Given the description of an element on the screen output the (x, y) to click on. 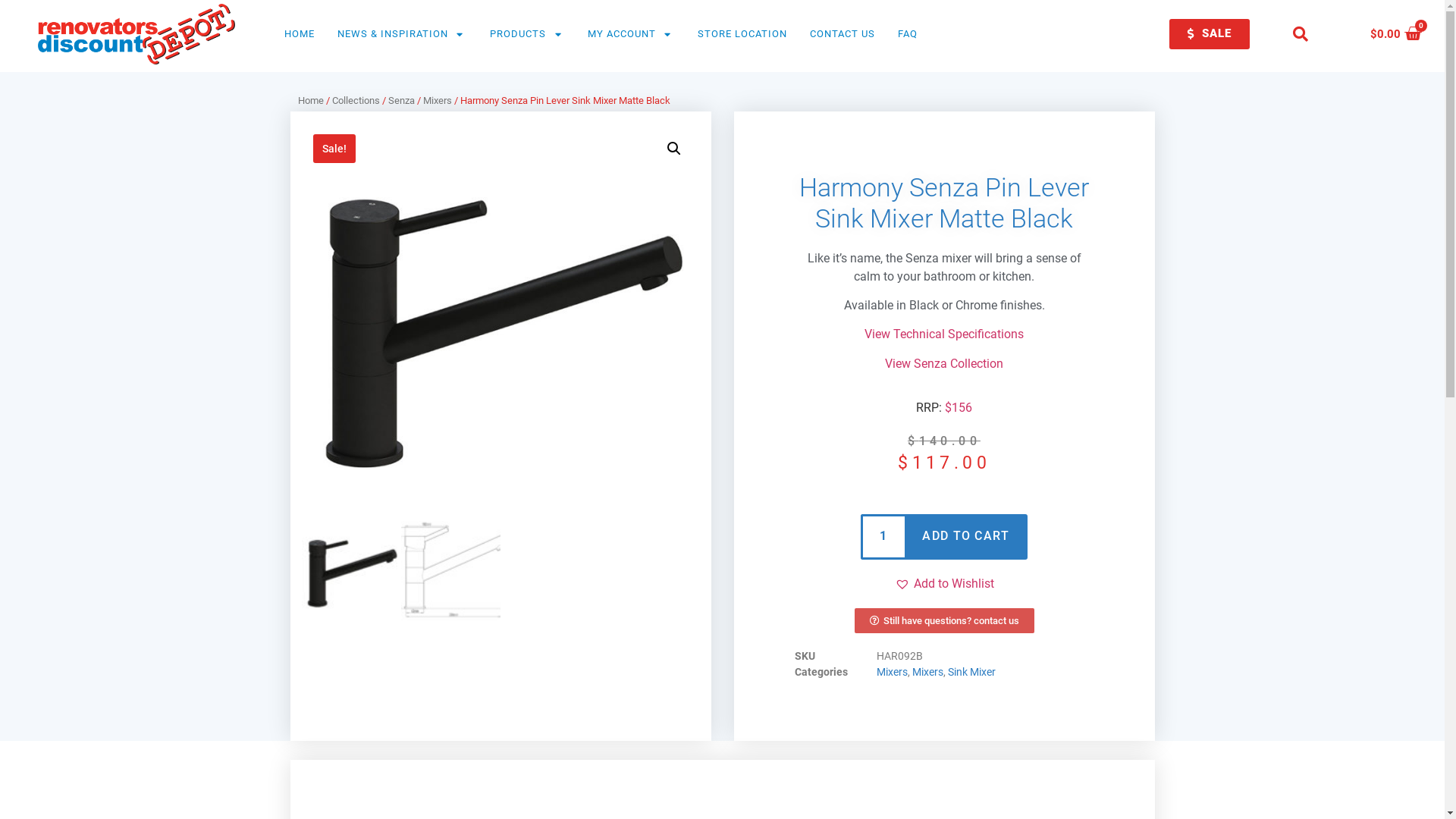
Mixers Element type: text (437, 100)
Add to Wishlist Element type: text (944, 583)
Home Element type: text (310, 100)
STORE LOCATION Element type: text (742, 34)
Sink Mixer Element type: text (971, 671)
HAR092B-1.jpg Element type: hover (500, 321)
Collections Element type: text (355, 100)
Mixers Element type: text (891, 671)
FAQ Element type: text (907, 34)
CONTACT US Element type: text (842, 34)
ADD TO CART Element type: text (965, 536)
SALE Element type: text (1209, 33)
156 Element type: text (958, 407)
View Technical Specifications Element type: text (943, 333)
NEWS & INSPIRATION Element type: text (393, 34)
Still have questions? contact us Element type: text (943, 620)
PRODUCTS Element type: text (519, 34)
Qty Element type: hover (882, 536)
Senza Element type: text (401, 100)
Mixers Element type: text (926, 671)
$0.00 Element type: text (1403, 34)
HOME Element type: text (299, 34)
MY ACCOUNT Element type: text (622, 34)
View Senza Collection Element type: text (943, 363)
